Given the description of an element on the screen output the (x, y) to click on. 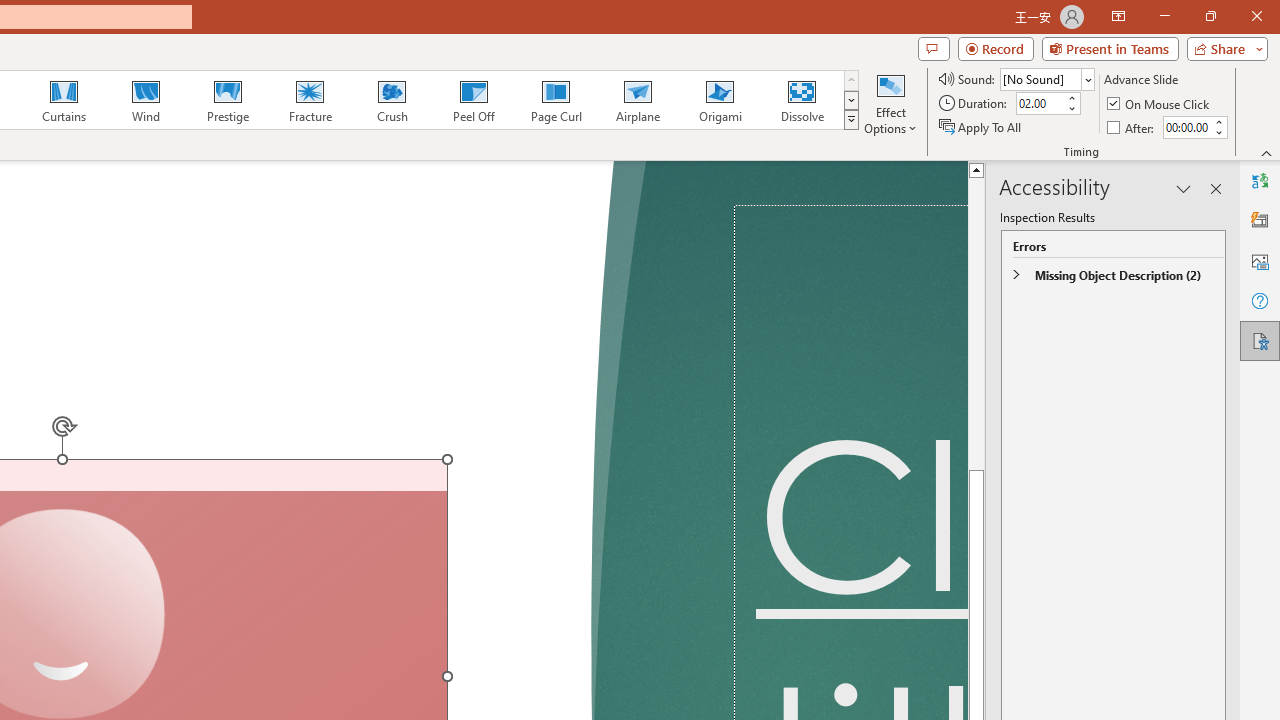
Apply To All (981, 126)
Airplane (637, 100)
Dissolve (802, 100)
